Given the description of an element on the screen output the (x, y) to click on. 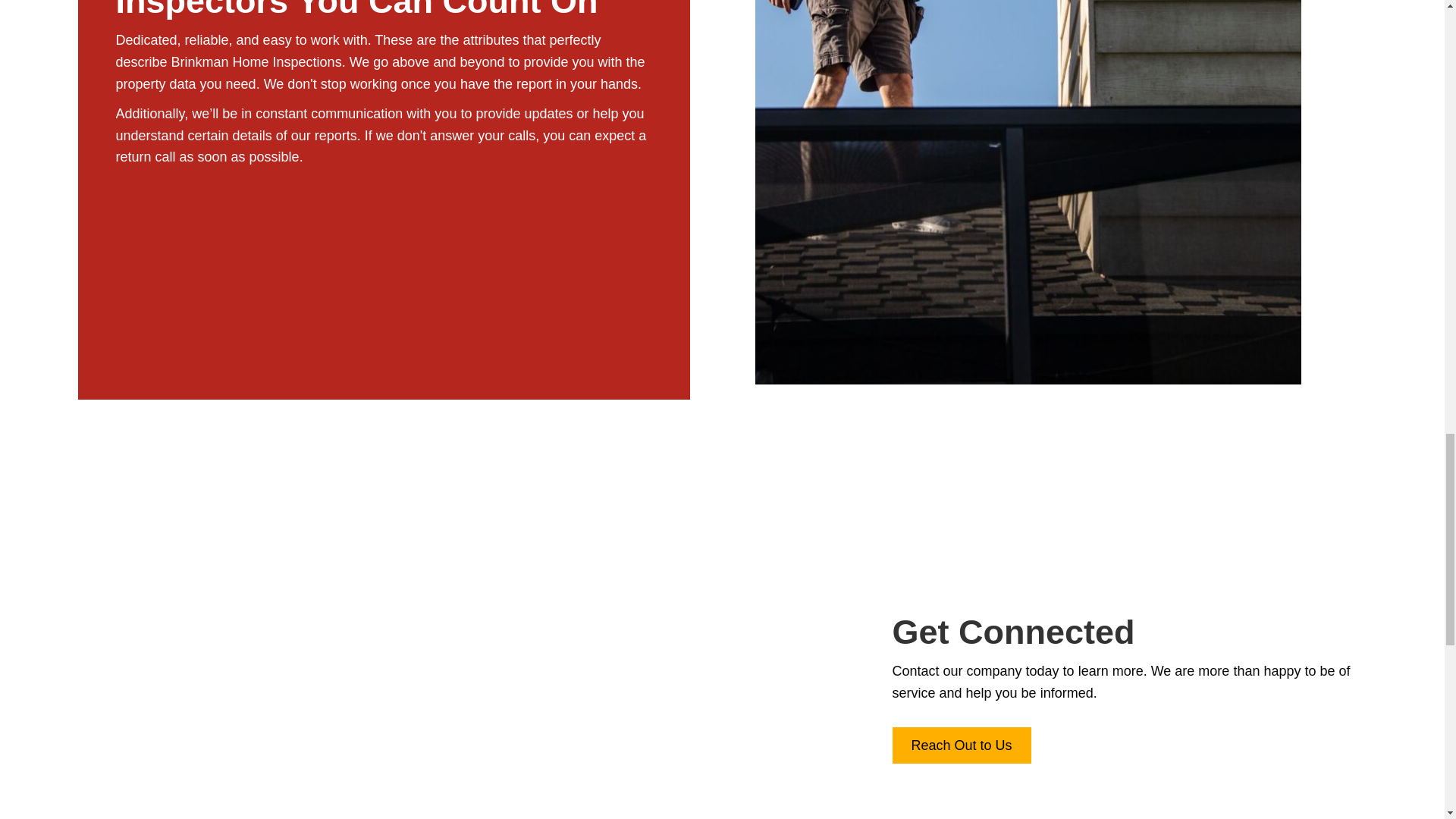
Reach Out to Us (960, 745)
